Given the description of an element on the screen output the (x, y) to click on. 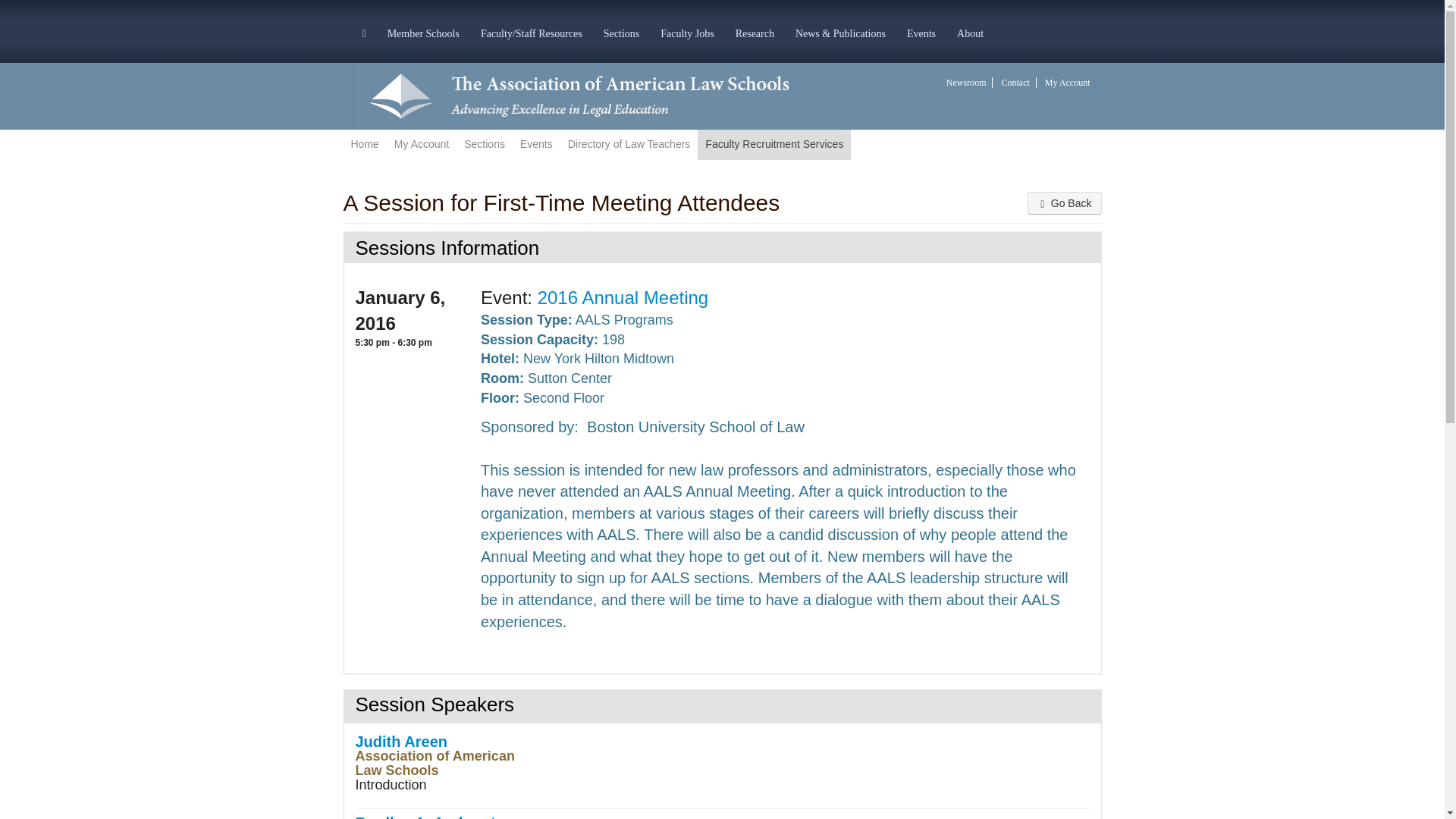
Member Schools (423, 31)
My Information (422, 144)
Go to the AALS.org home page (596, 95)
Faculty Jobs (686, 31)
Home (363, 144)
Sections (484, 144)
Faculty Recruitment Services (773, 144)
Events Top (536, 144)
Directory of Law Teachers (629, 144)
